Given the description of an element on the screen output the (x, y) to click on. 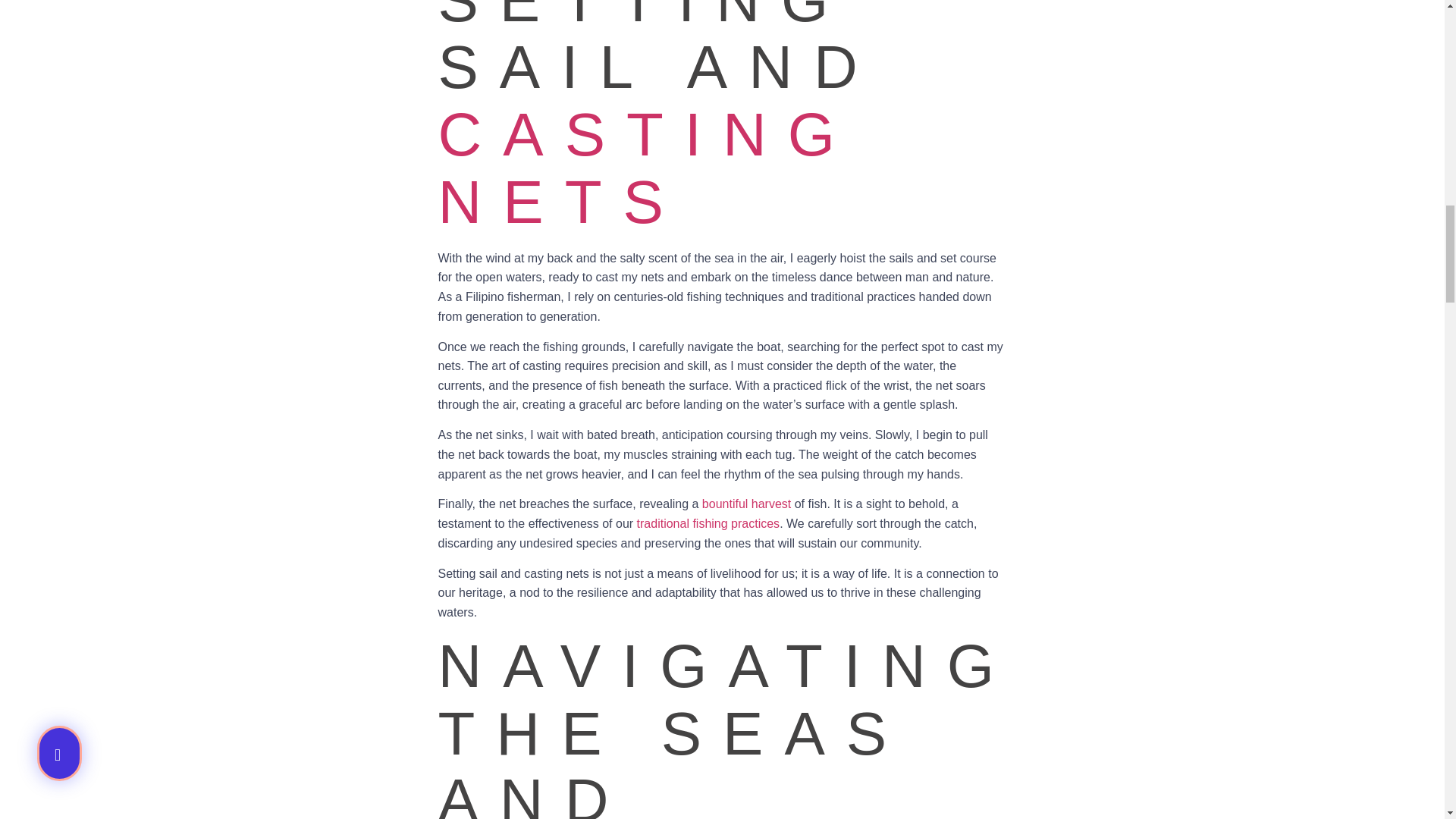
bountiful harvest (745, 503)
traditional fishing practices (708, 522)
CASTING NETS (647, 167)
